Given the description of an element on the screen output the (x, y) to click on. 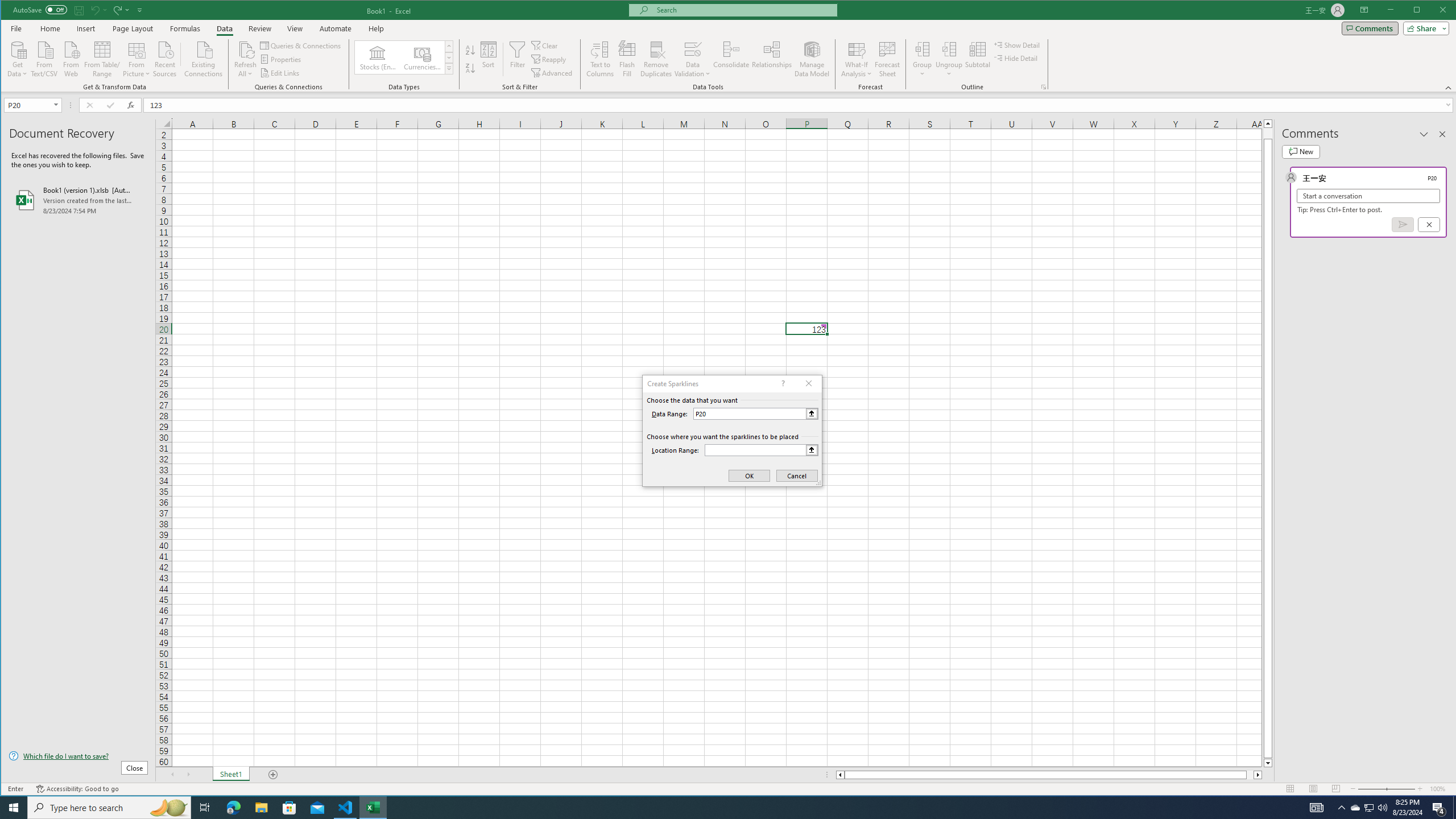
Flash Fill (627, 59)
Group... (922, 59)
Normal (1290, 788)
Zoom Out (1372, 788)
Microsoft search (742, 10)
Column left (839, 774)
Forecast Sheet (887, 59)
Class: NetUIScrollBar (1048, 774)
Data Types (448, 68)
Redo (116, 9)
Home (50, 28)
Properties (280, 59)
Minimize (1419, 11)
Save (79, 9)
Name Box (32, 105)
